Given the description of an element on the screen output the (x, y) to click on. 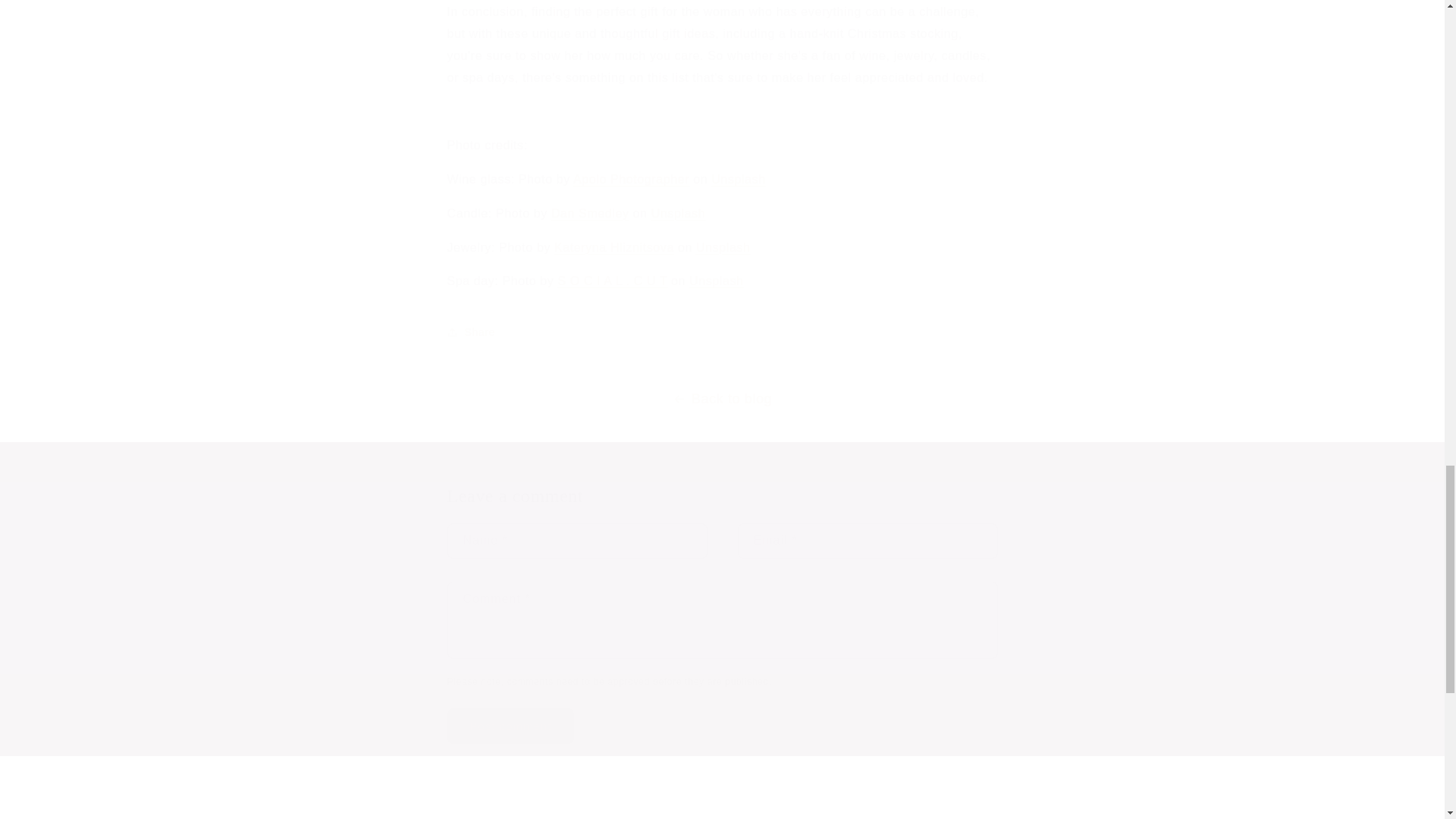
Post comment (510, 725)
Share (721, 331)
